Given the description of an element on the screen output the (x, y) to click on. 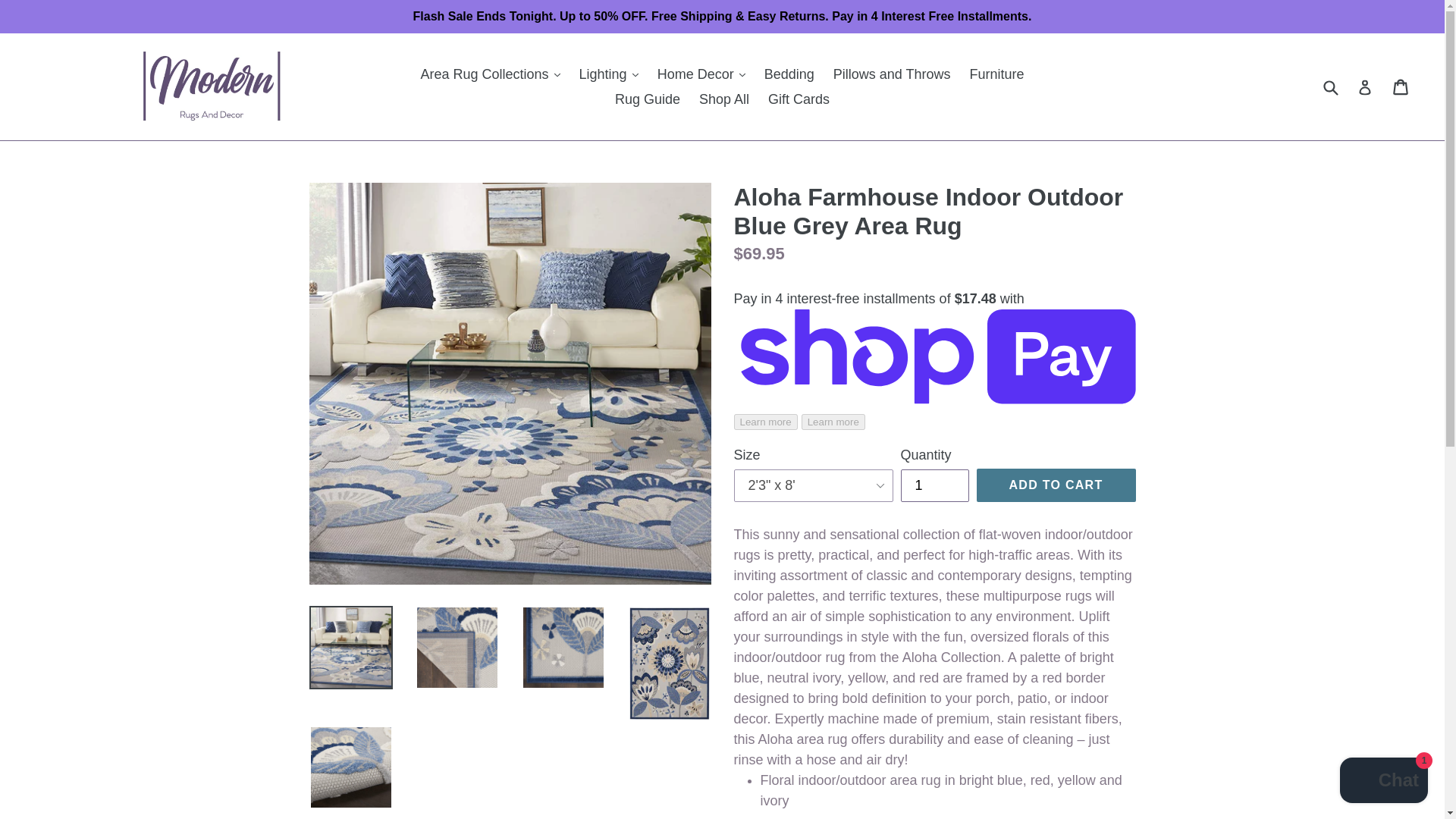
1 (935, 485)
Shopify online store chat (1383, 781)
